Given the description of an element on the screen output the (x, y) to click on. 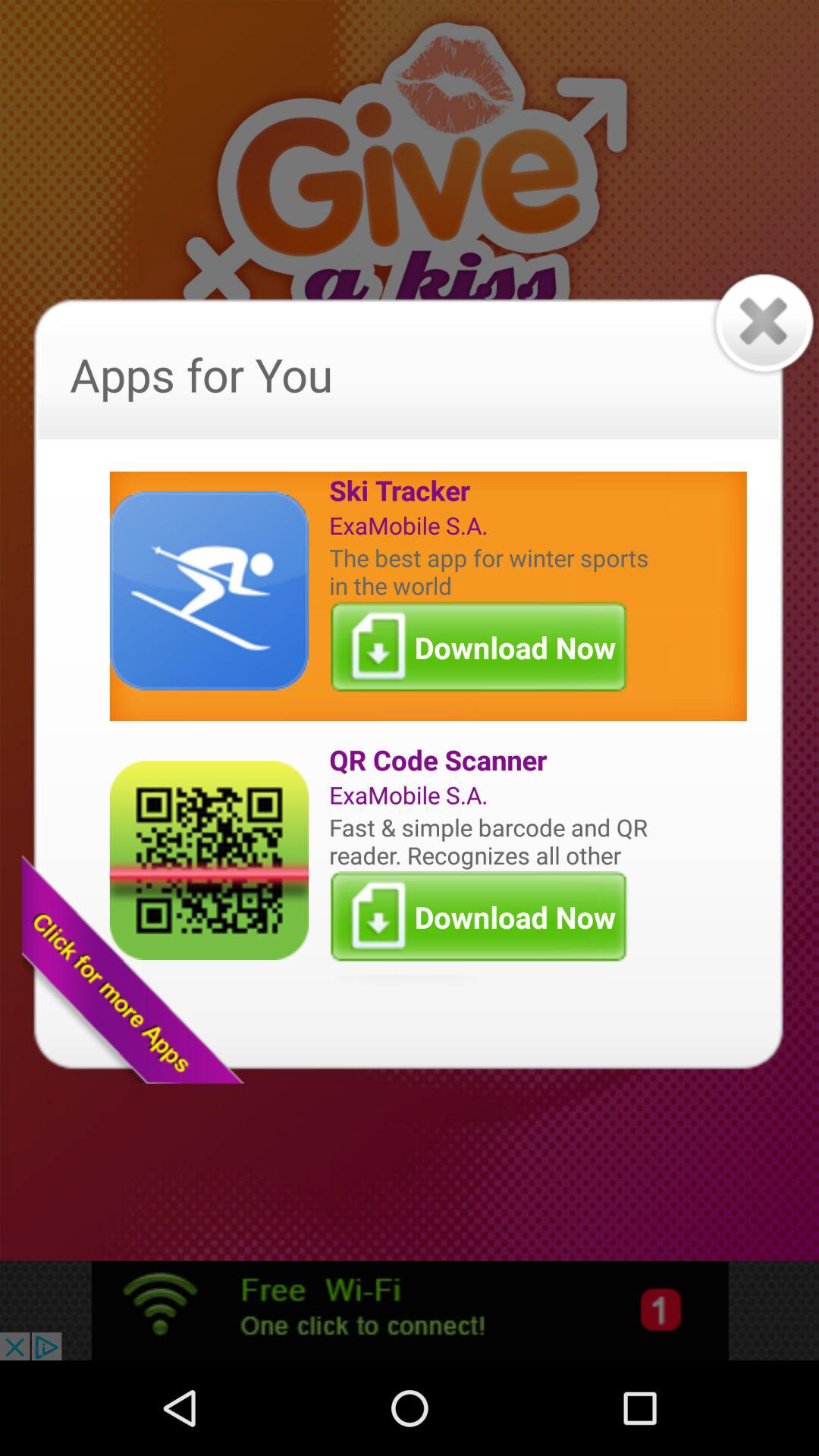
turn off the icon above the examobile s.a. (492, 490)
